Given the description of an element on the screen output the (x, y) to click on. 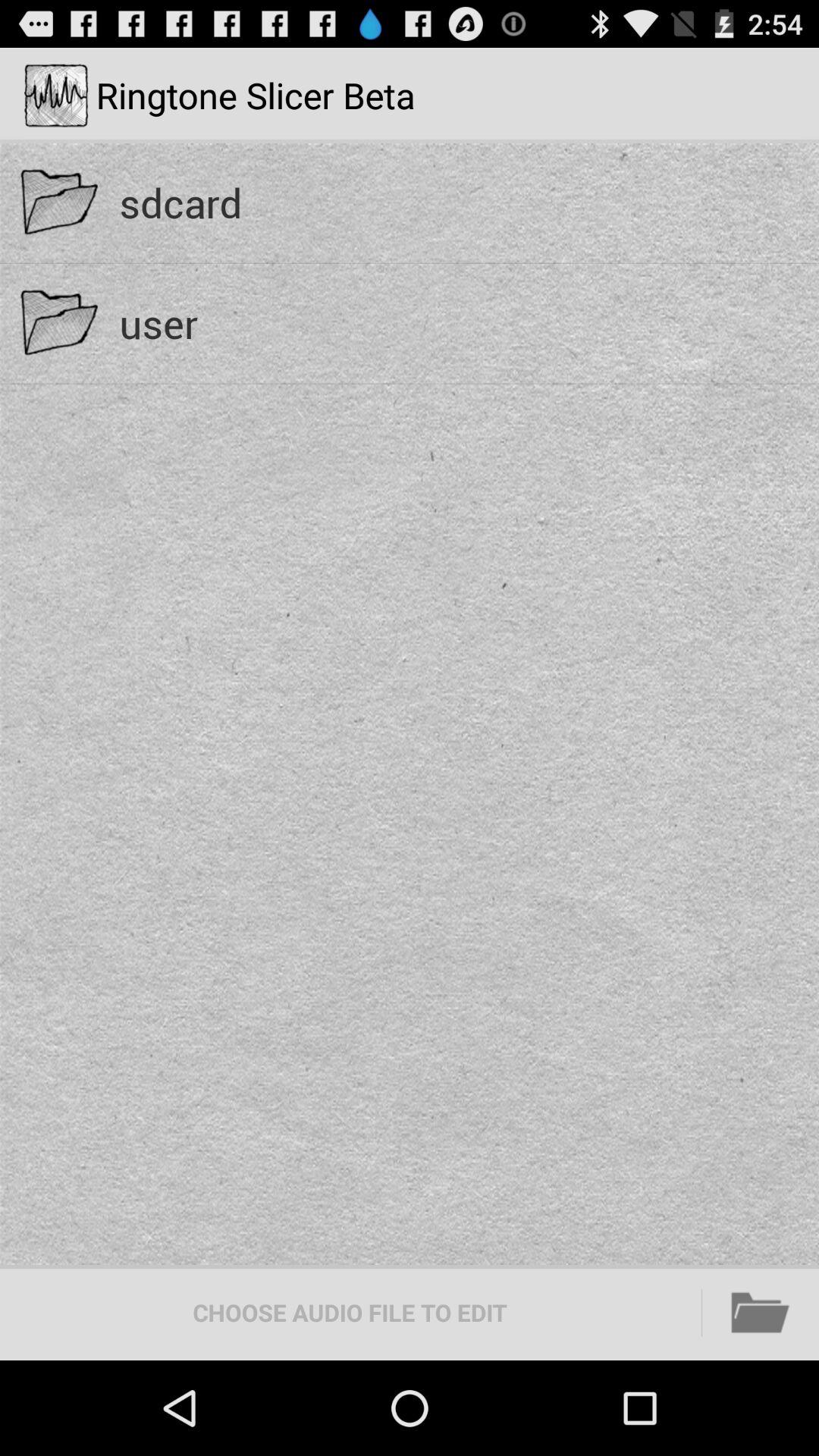
tap the icon at the bottom right corner (760, 1312)
